Given the description of an element on the screen output the (x, y) to click on. 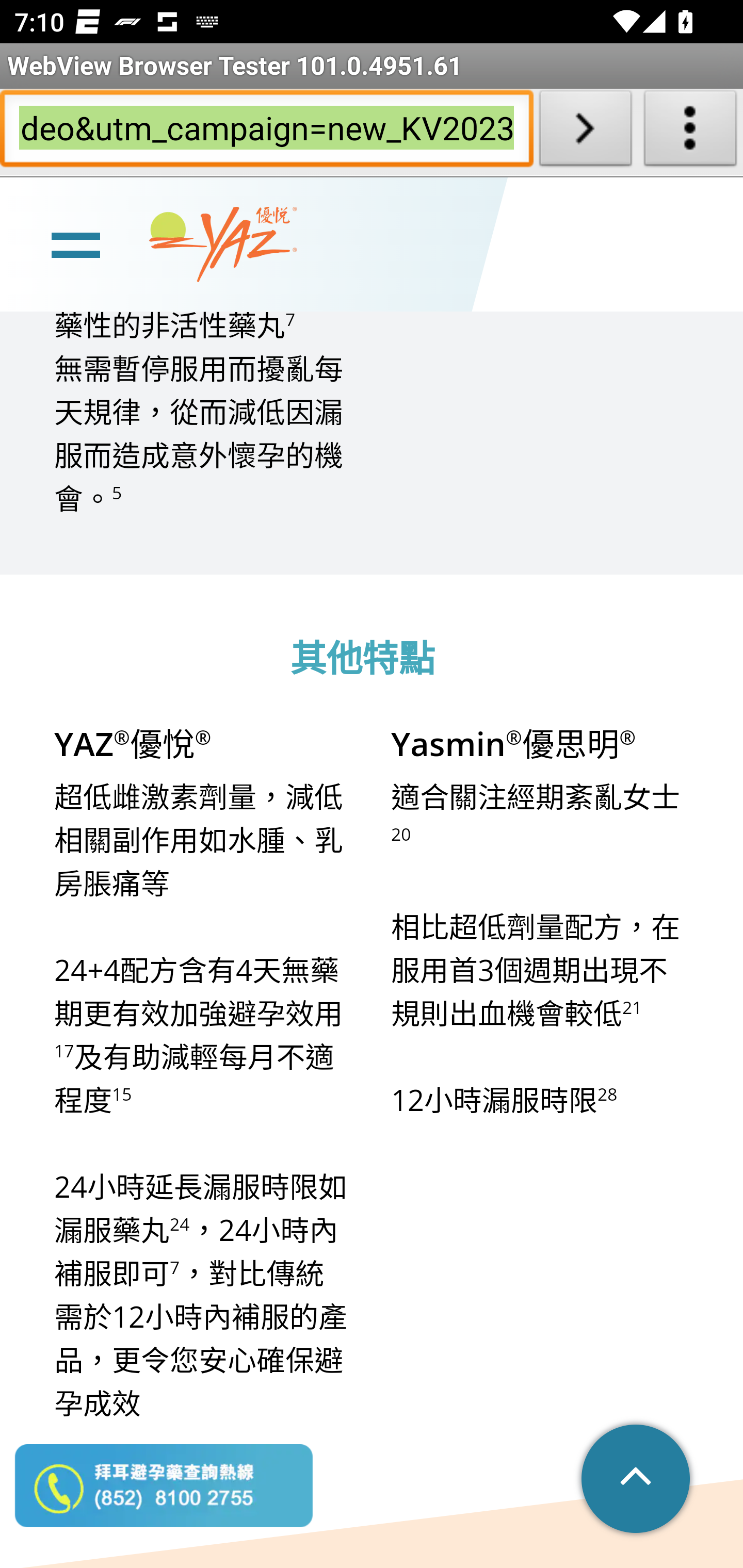
Load URL (585, 132)
About WebView (690, 132)
www.yaz (222, 244)
line Toggle burger menu (75, 243)
 (636, 1480)
